Given the description of an element on the screen output the (x, y) to click on. 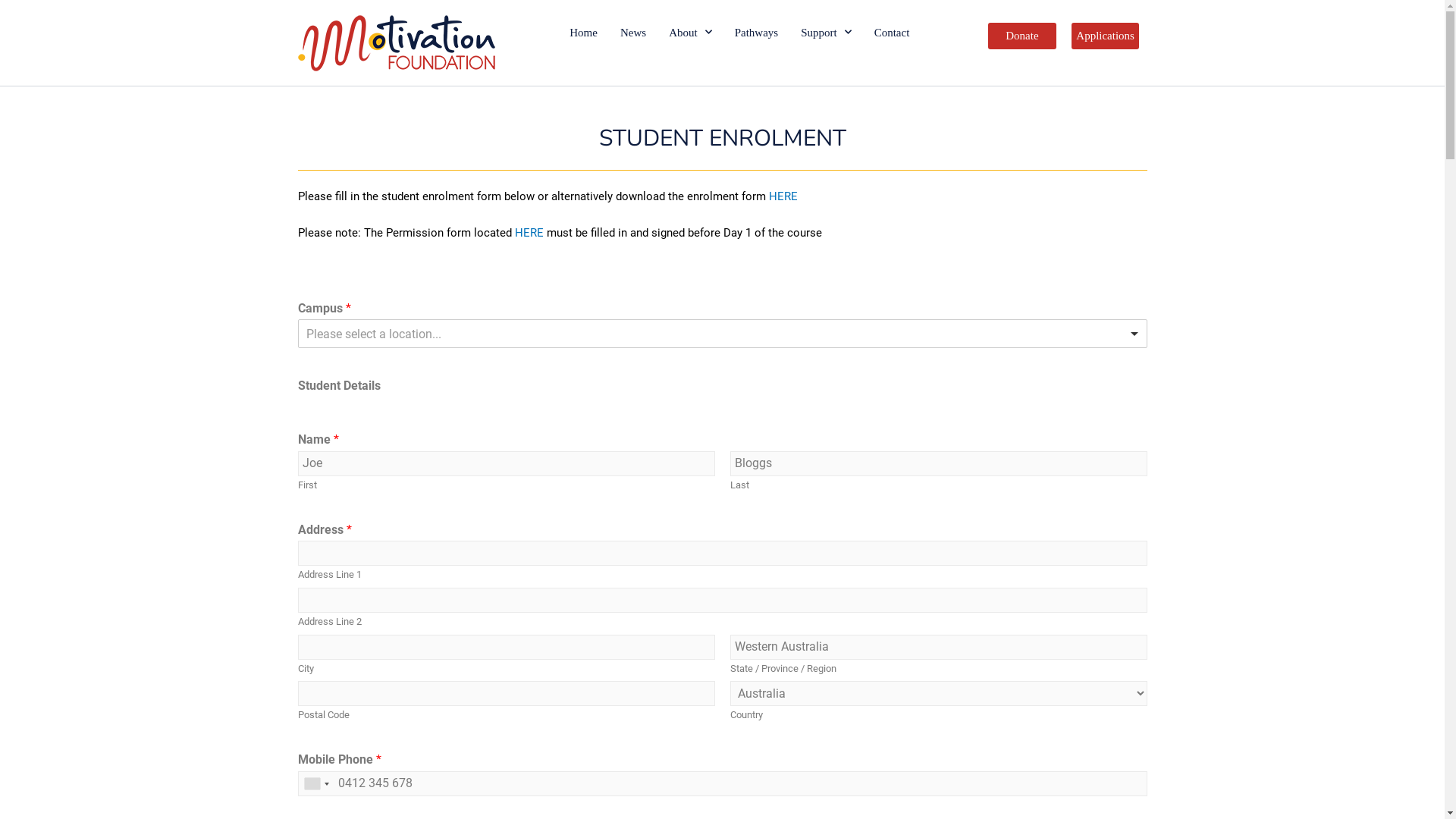
About Element type: text (690, 32)
HERE Element type: text (528, 232)
Donate Element type: text (1022, 35)
Support Element type: text (825, 32)
Applications Element type: text (1105, 35)
News Element type: text (632, 32)
Contact Element type: text (891, 32)
HERE Element type: text (782, 196)
Pathways Element type: text (756, 32)
Home Element type: text (583, 32)
